Given the description of an element on the screen output the (x, y) to click on. 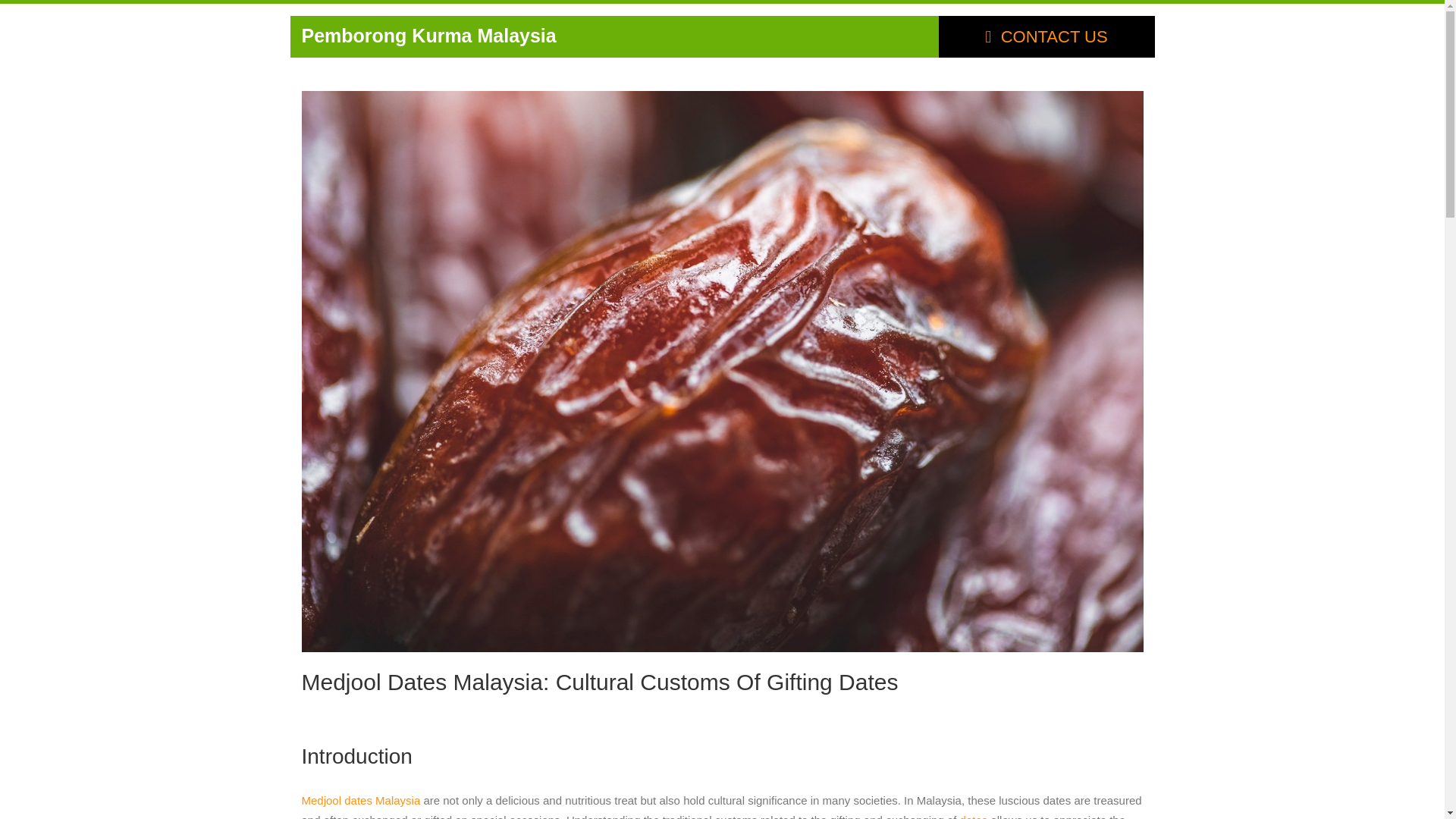
  CONTACT US (1045, 36)
dates (973, 816)
Pemborong Kurma Malaysia (428, 35)
Medjool dates Malaysia (360, 799)
